Given the description of an element on the screen output the (x, y) to click on. 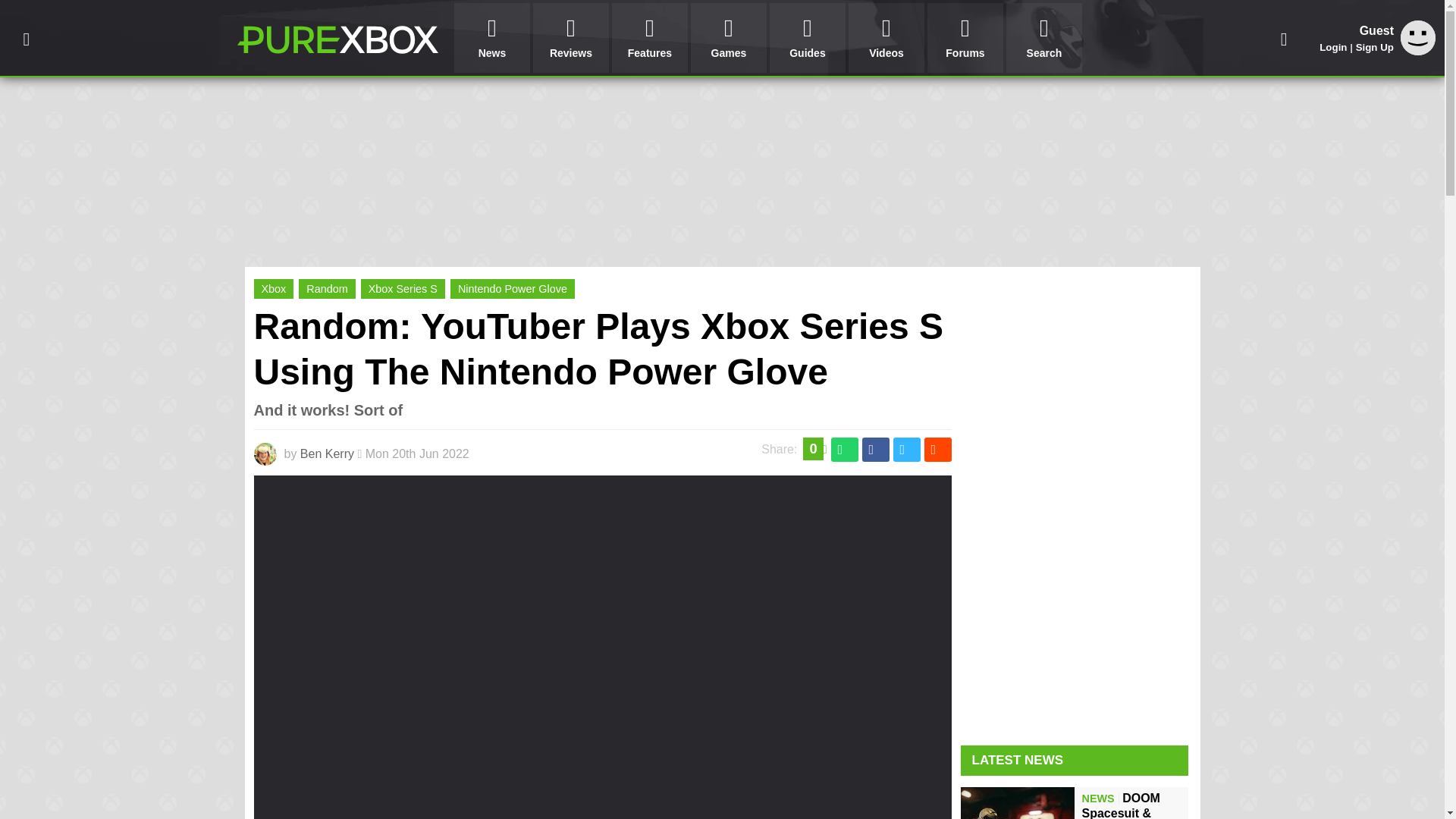
Pure Xbox (336, 39)
Guides (807, 37)
Pure Xbox (336, 39)
Share This Page (1283, 37)
Guest (1417, 37)
Forums (965, 37)
Features (649, 37)
Login (1332, 47)
Reviews (570, 37)
News (491, 37)
Search (1043, 37)
Videos (886, 37)
Games (728, 37)
Sign Up (1374, 47)
Guest (1417, 51)
